Given the description of an element on the screen output the (x, y) to click on. 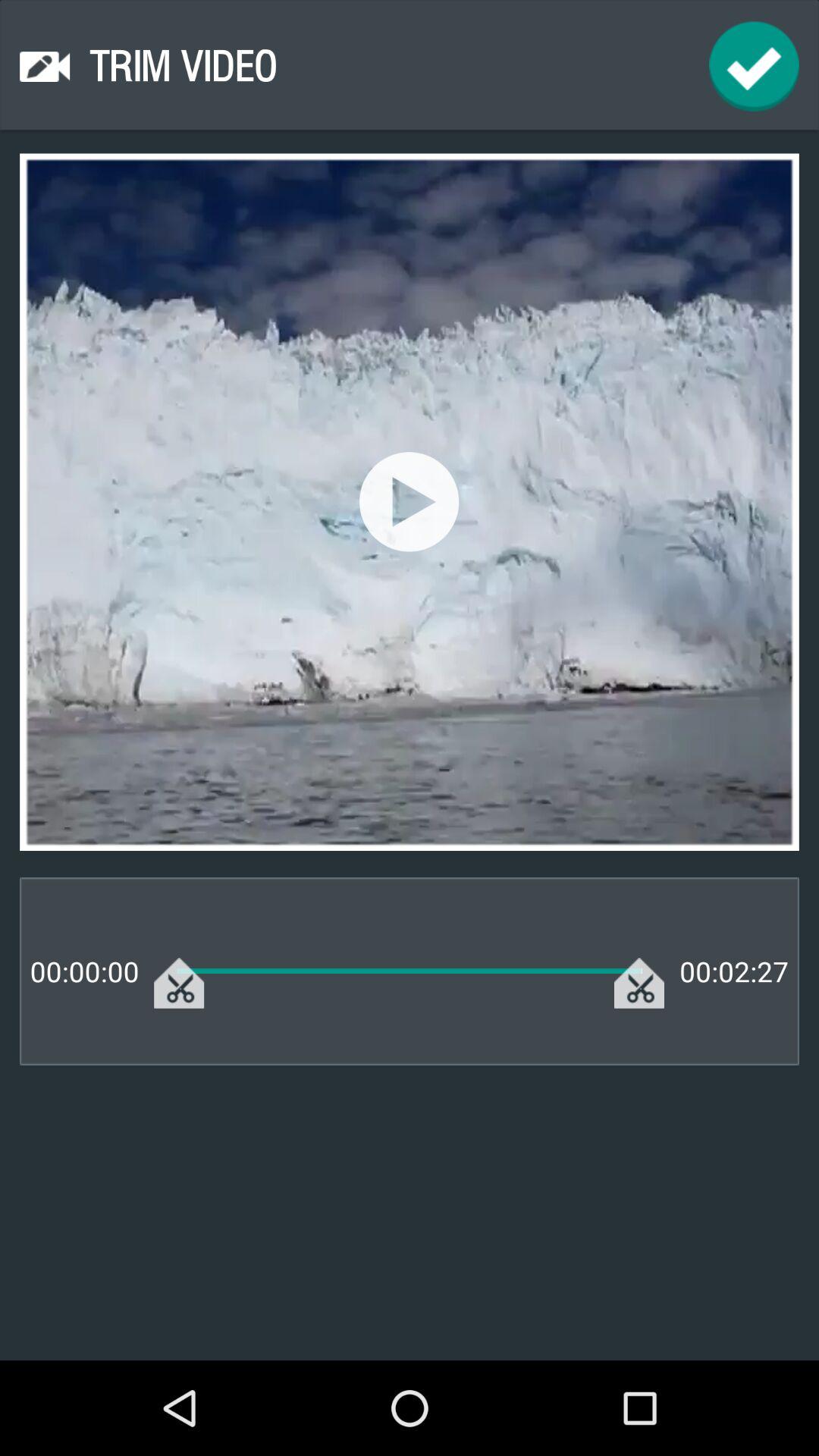
select the app to the right of trim video (754, 66)
